Given the description of an element on the screen output the (x, y) to click on. 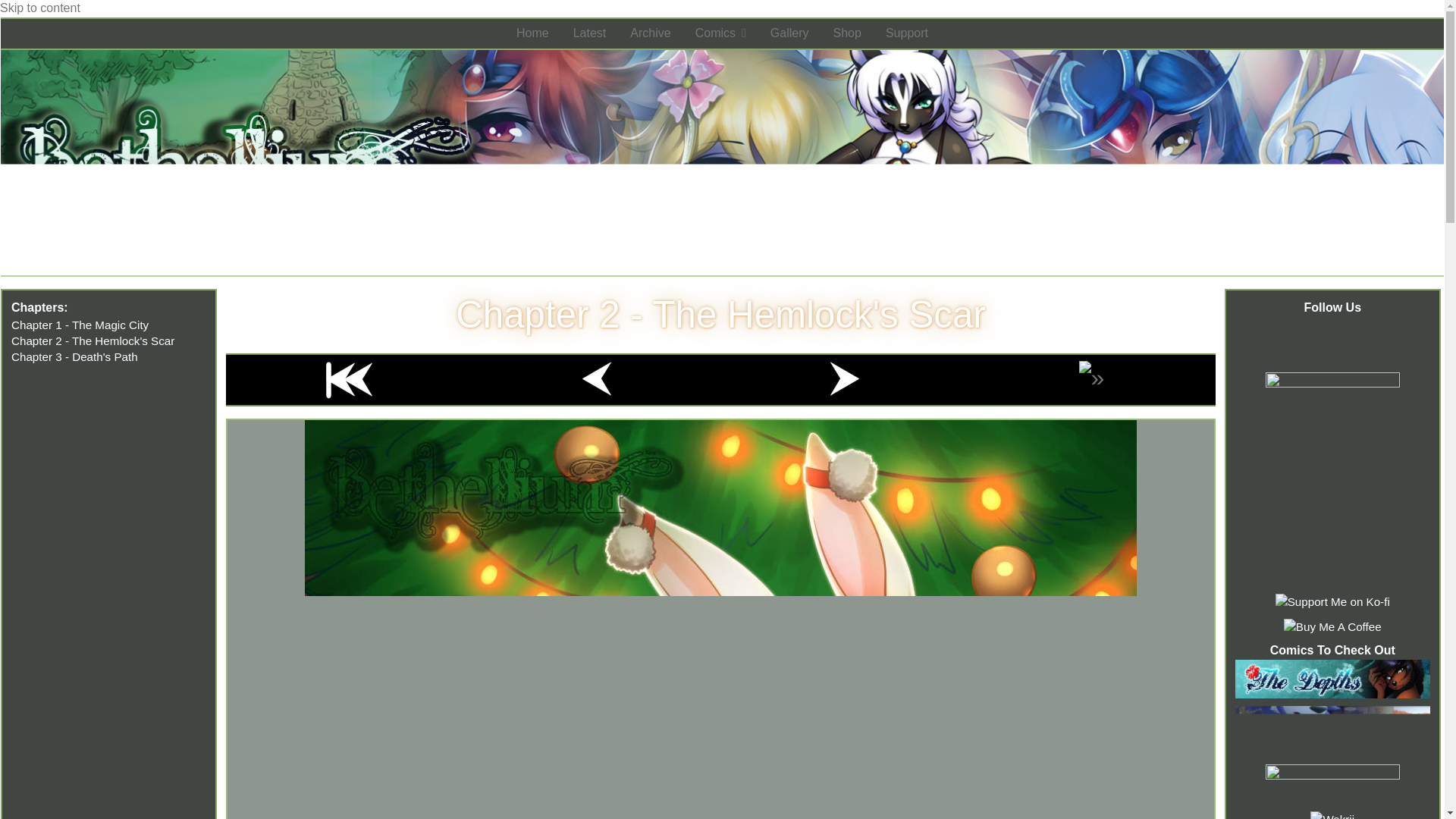
Skip to content (40, 7)
Latest (589, 32)
Home (531, 32)
Gallery (789, 32)
Comics (720, 32)
Archive (649, 32)
Chapter 2 - The Hemlock's Scar (720, 313)
Shop (847, 32)
Support (906, 32)
